Given the description of an element on the screen output the (x, y) to click on. 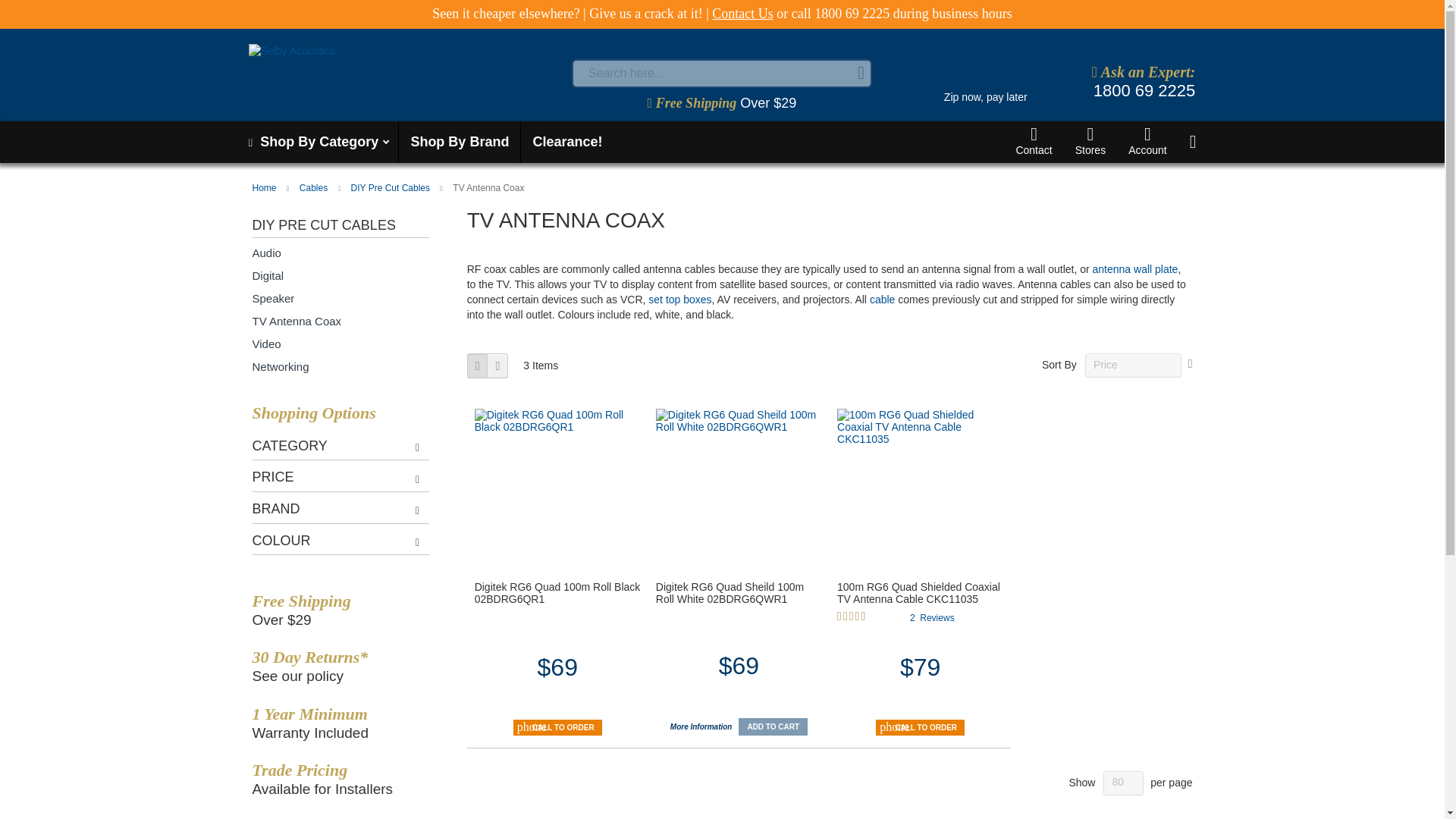
Zip now, pay later (984, 82)
Shop By Category (316, 141)
Grid (477, 364)
Selby Acoustics (337, 72)
Shop By Category (316, 141)
Selby Acoustics (406, 72)
Contact Us (742, 13)
Go to Home Page (264, 187)
Set Descending Direction (1190, 364)
Search (860, 72)
List (497, 364)
Add to Cart (773, 726)
Search (860, 72)
